Given the description of an element on the screen output the (x, y) to click on. 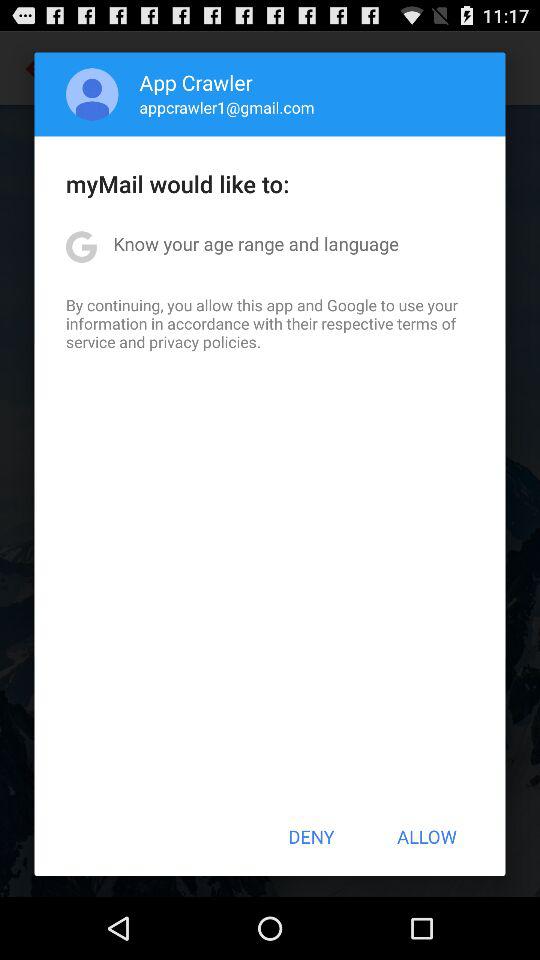
tap item next to the allow item (311, 836)
